Given the description of an element on the screen output the (x, y) to click on. 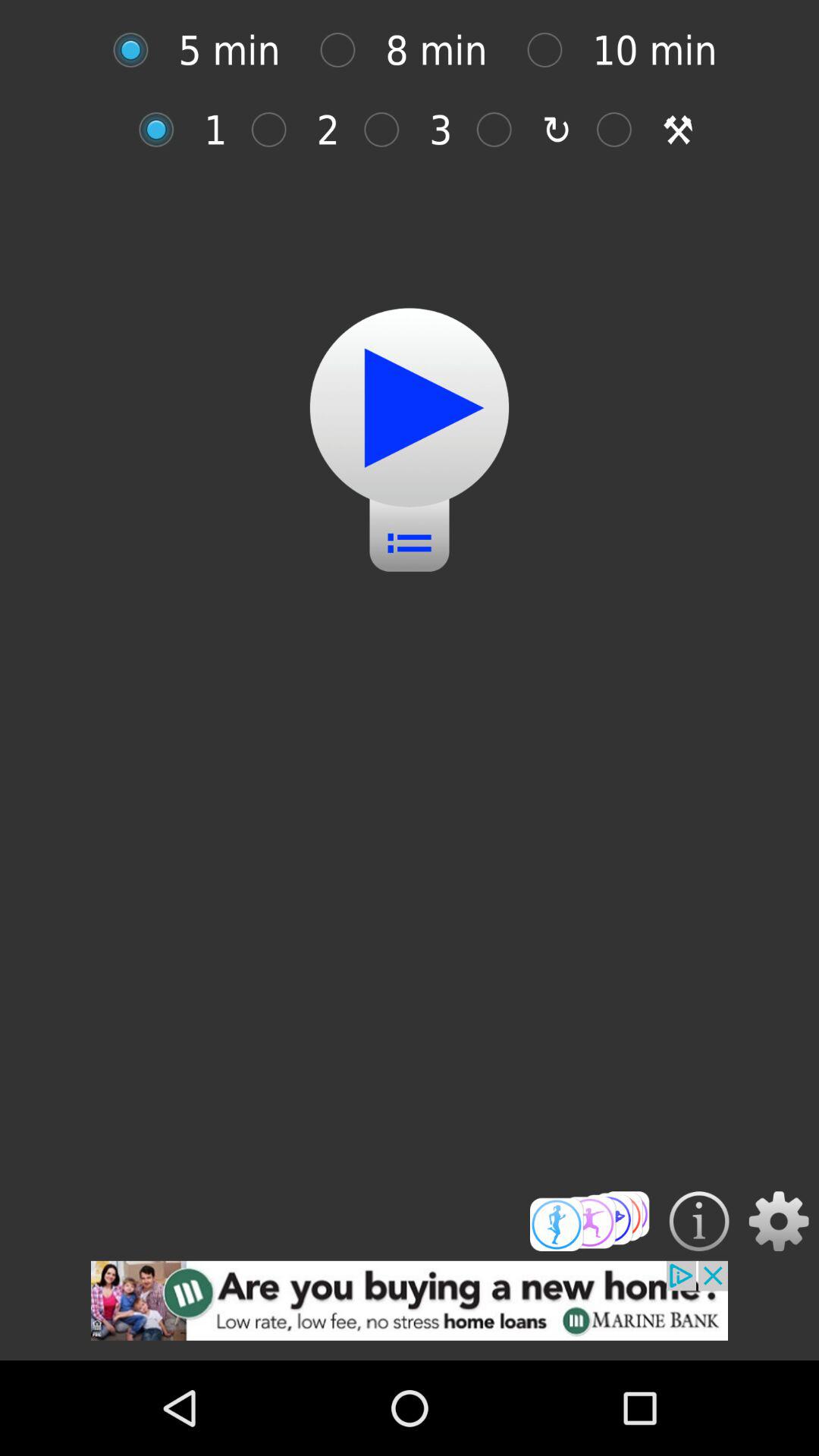
select duration 10 minutes (552, 49)
